Given the description of an element on the screen output the (x, y) to click on. 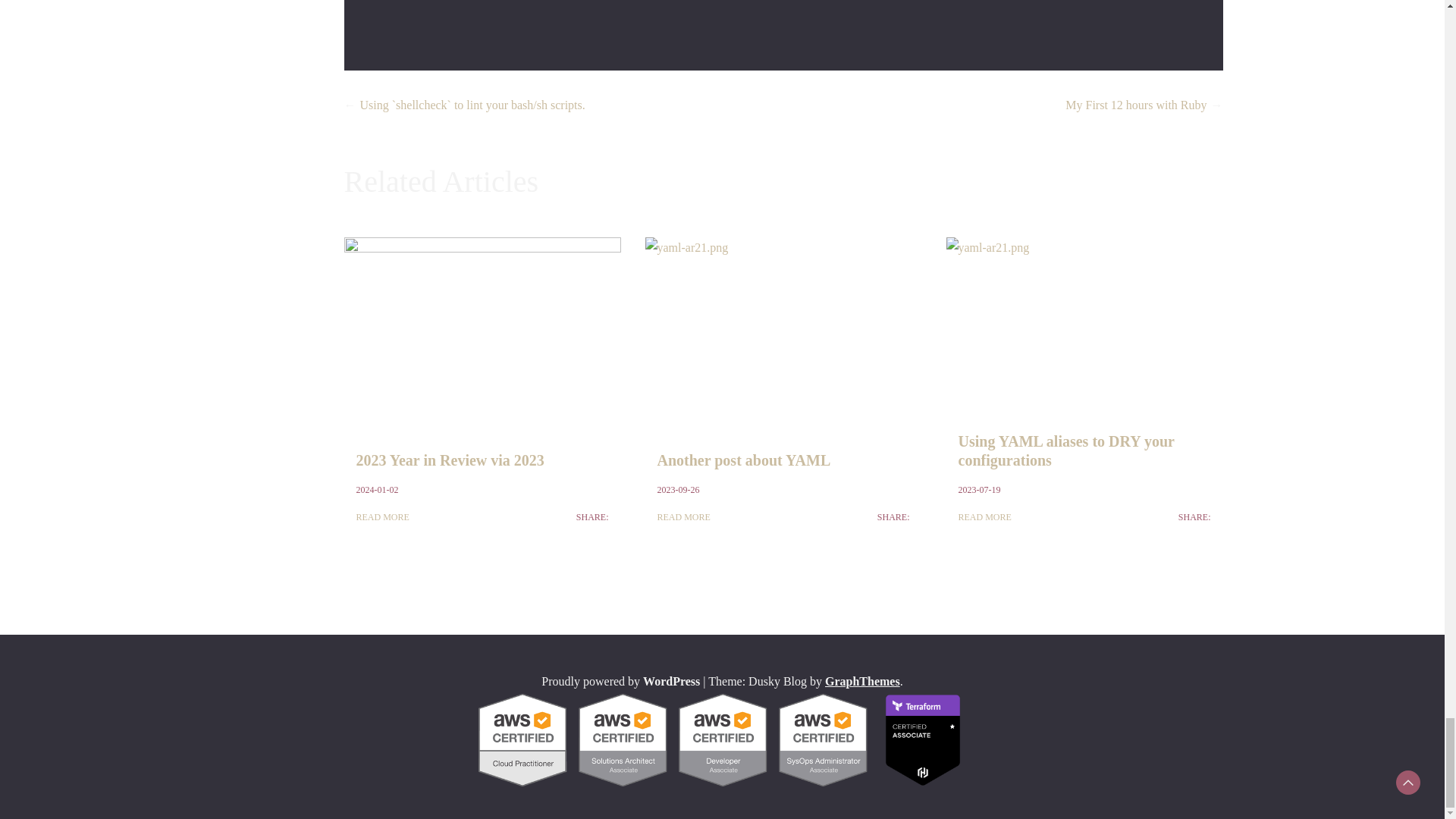
2024-01-02 (377, 489)
READ MORE (382, 516)
READ MORE (683, 516)
Another post about YAML (742, 460)
2023 Year in Review via 2023 (450, 460)
My First 12 hours with Ruby (1136, 104)
2023-09-26 (677, 489)
